Given the description of an element on the screen output the (x, y) to click on. 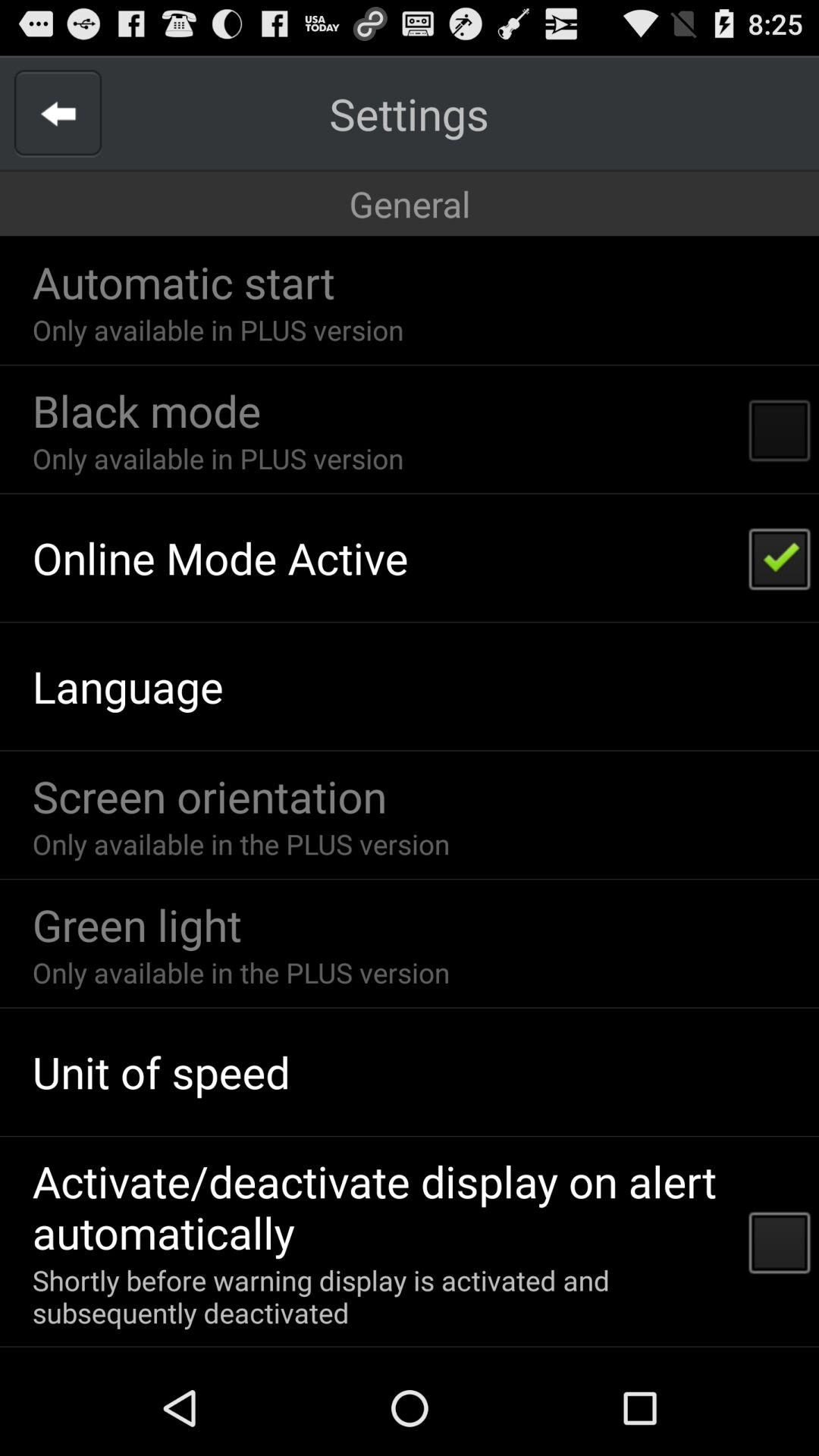
click activate deactivate display (380, 1206)
